Given the description of an element on the screen output the (x, y) to click on. 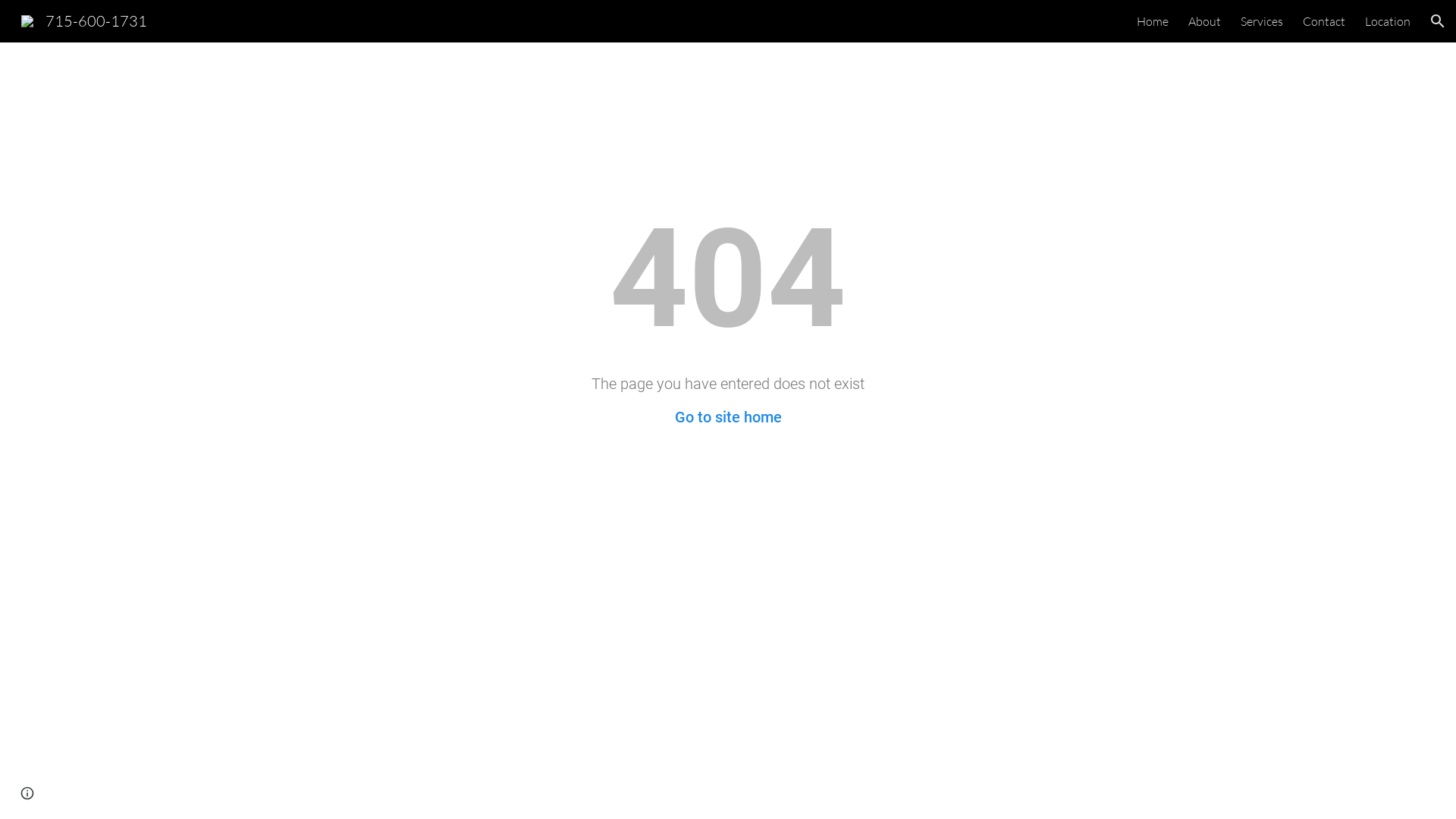
Home Element type: text (1152, 20)
Services Element type: text (1261, 20)
Location Element type: text (1387, 20)
715-600-1731 Element type: text (84, 18)
About Element type: text (1204, 20)
Go to site home Element type: text (727, 416)
Contact Element type: text (1323, 20)
